Given the description of an element on the screen output the (x, y) to click on. 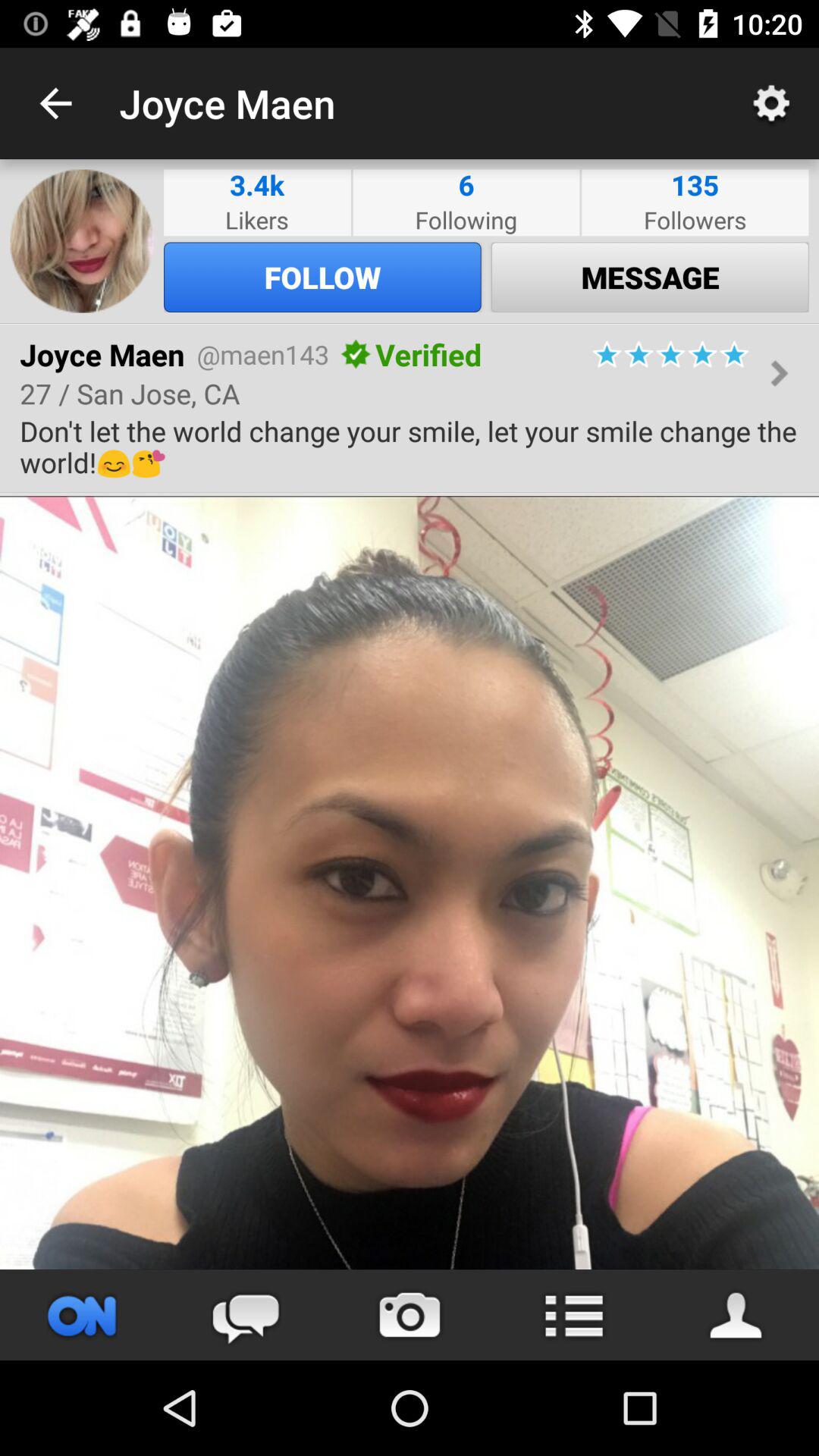
scroll until 6 icon (466, 184)
